Given the description of an element on the screen output the (x, y) to click on. 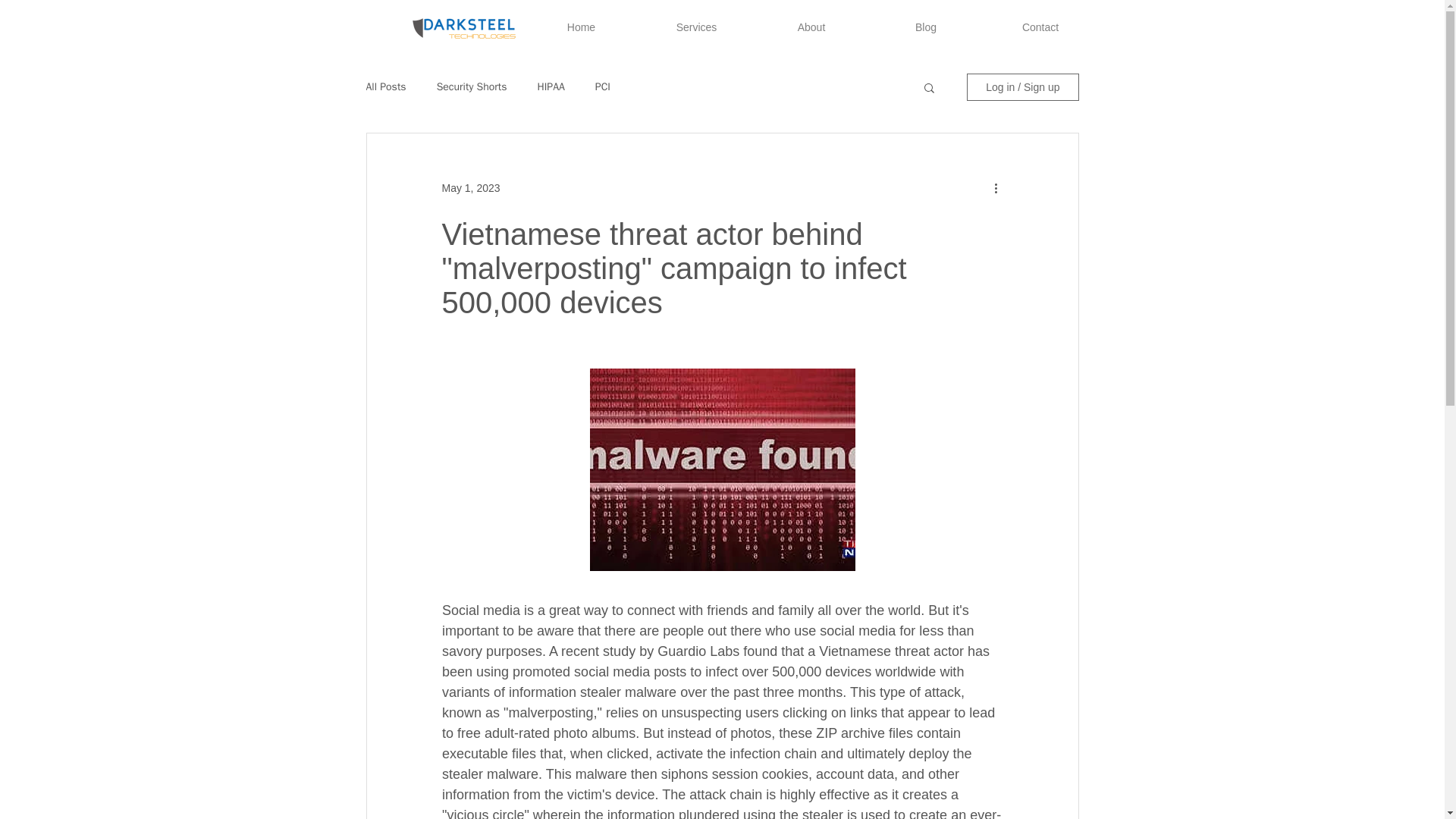
May 1, 2023 (470, 187)
HIPAA (550, 87)
All Posts (385, 87)
Security Shorts (471, 87)
About (810, 27)
Home (580, 27)
Contact (1039, 27)
PCI (602, 87)
Services (696, 27)
Blog (926, 27)
